Given the description of an element on the screen output the (x, y) to click on. 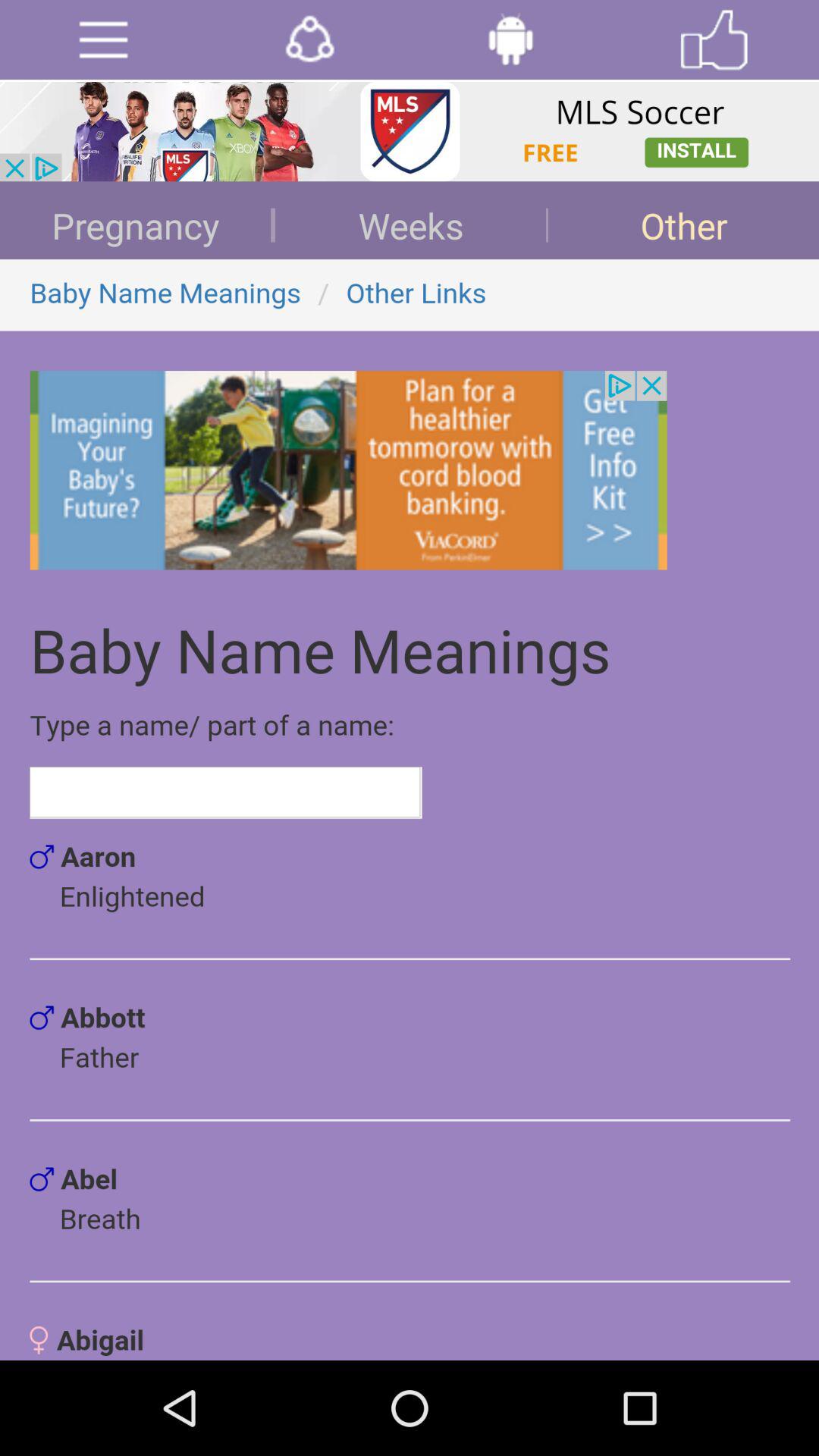
like and/or comment/review (714, 39)
